Given the description of an element on the screen output the (x, y) to click on. 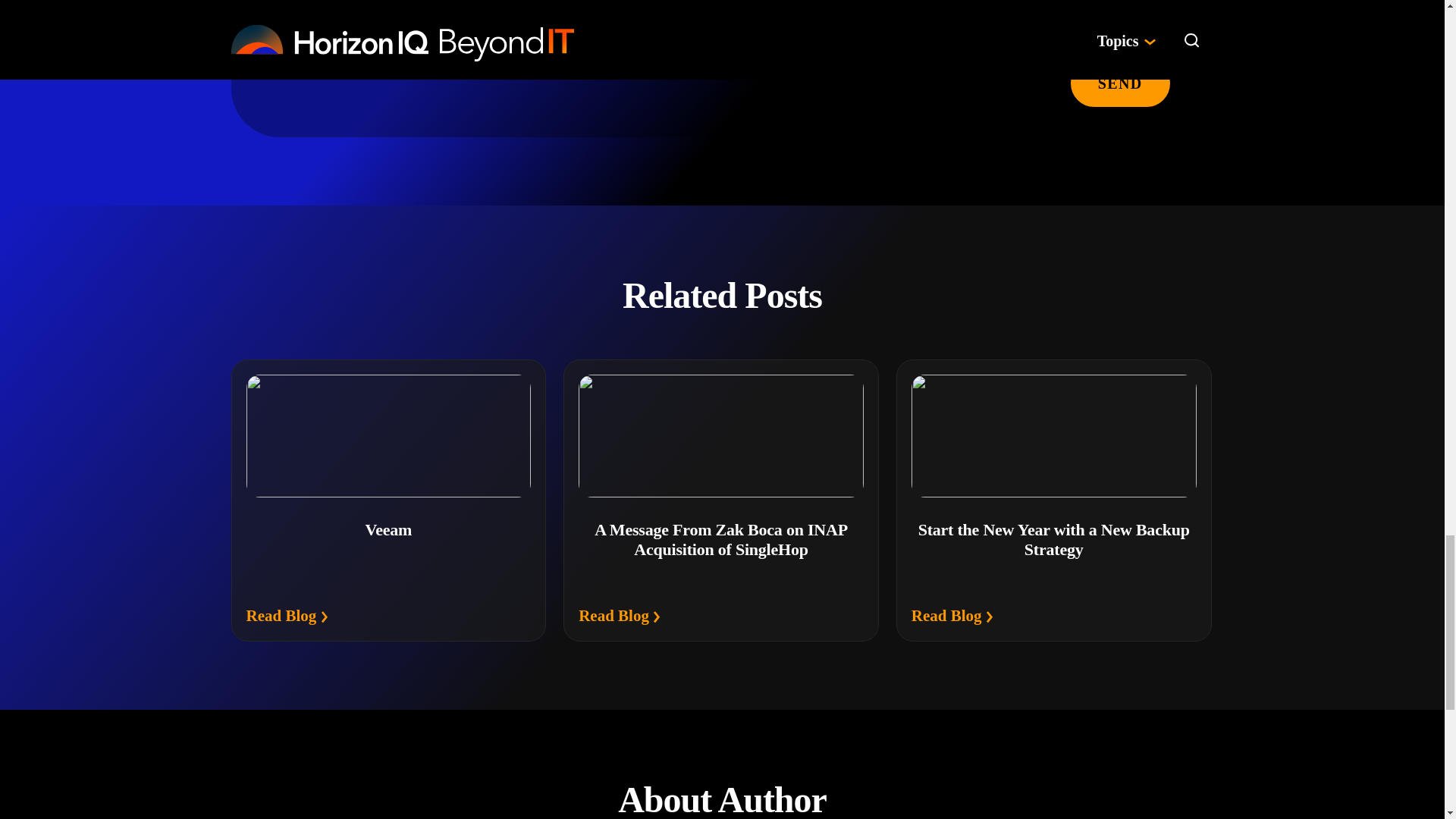
Privacy Policy (668, 42)
SEND (1120, 82)
Read Blog (286, 616)
